Given the description of an element on the screen output the (x, y) to click on. 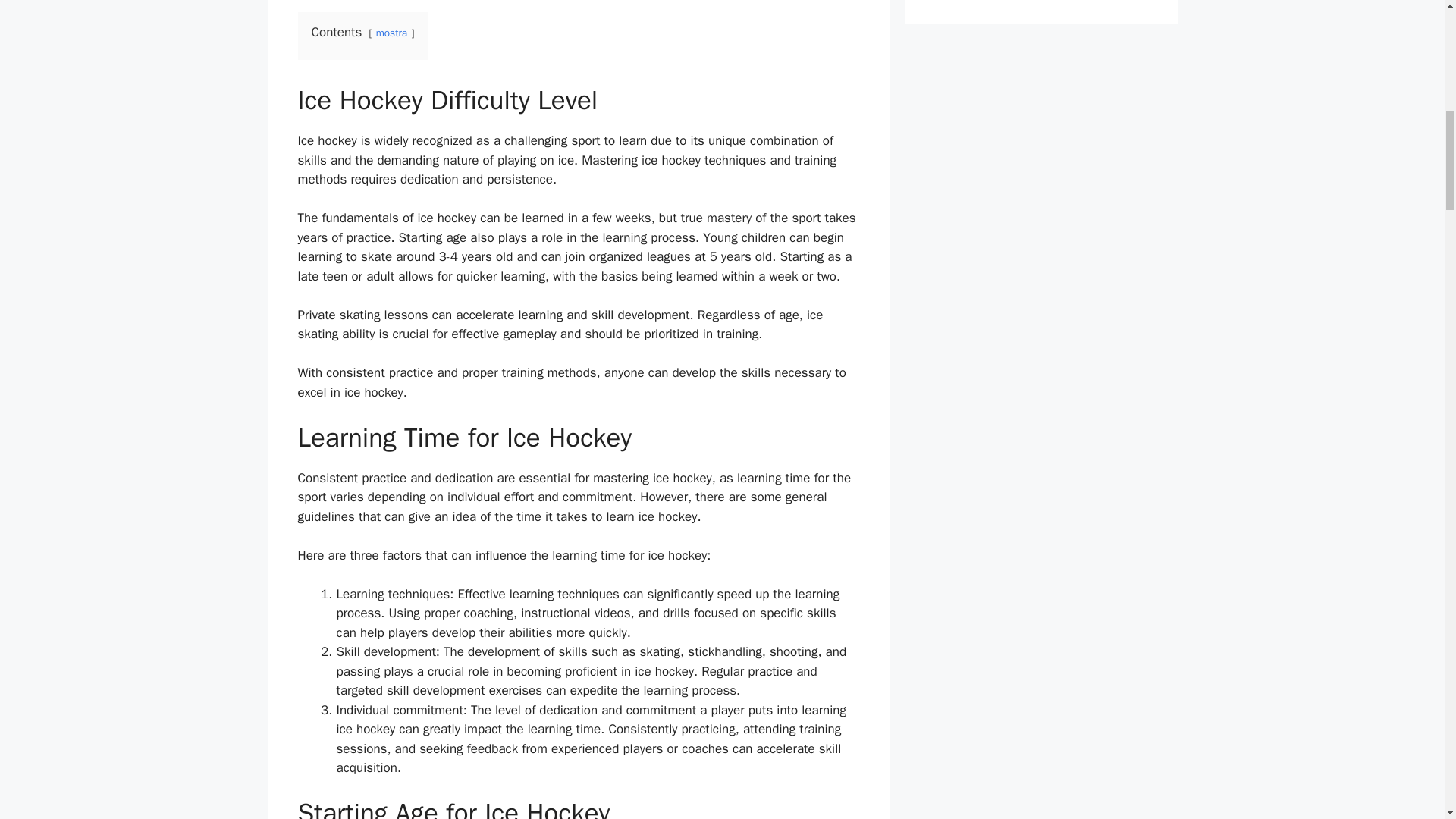
mostra (391, 32)
